Given the description of an element on the screen output the (x, y) to click on. 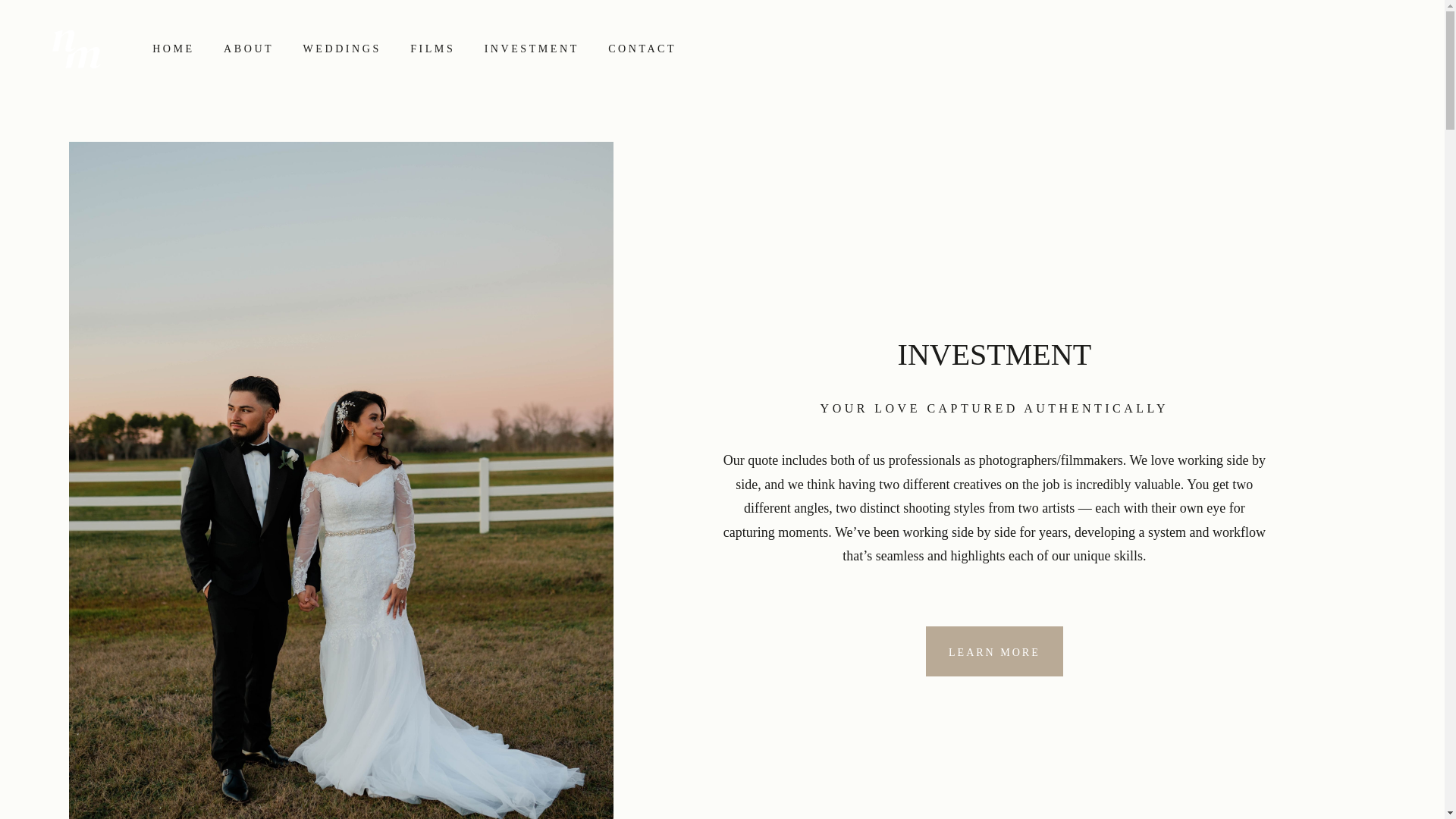
FILMS (432, 48)
HOME (173, 48)
INVESTMENT (531, 48)
WEDDINGS (342, 48)
ABOUT (248, 48)
LEARN MORE (994, 651)
CONTACT (642, 48)
